Given the description of an element on the screen output the (x, y) to click on. 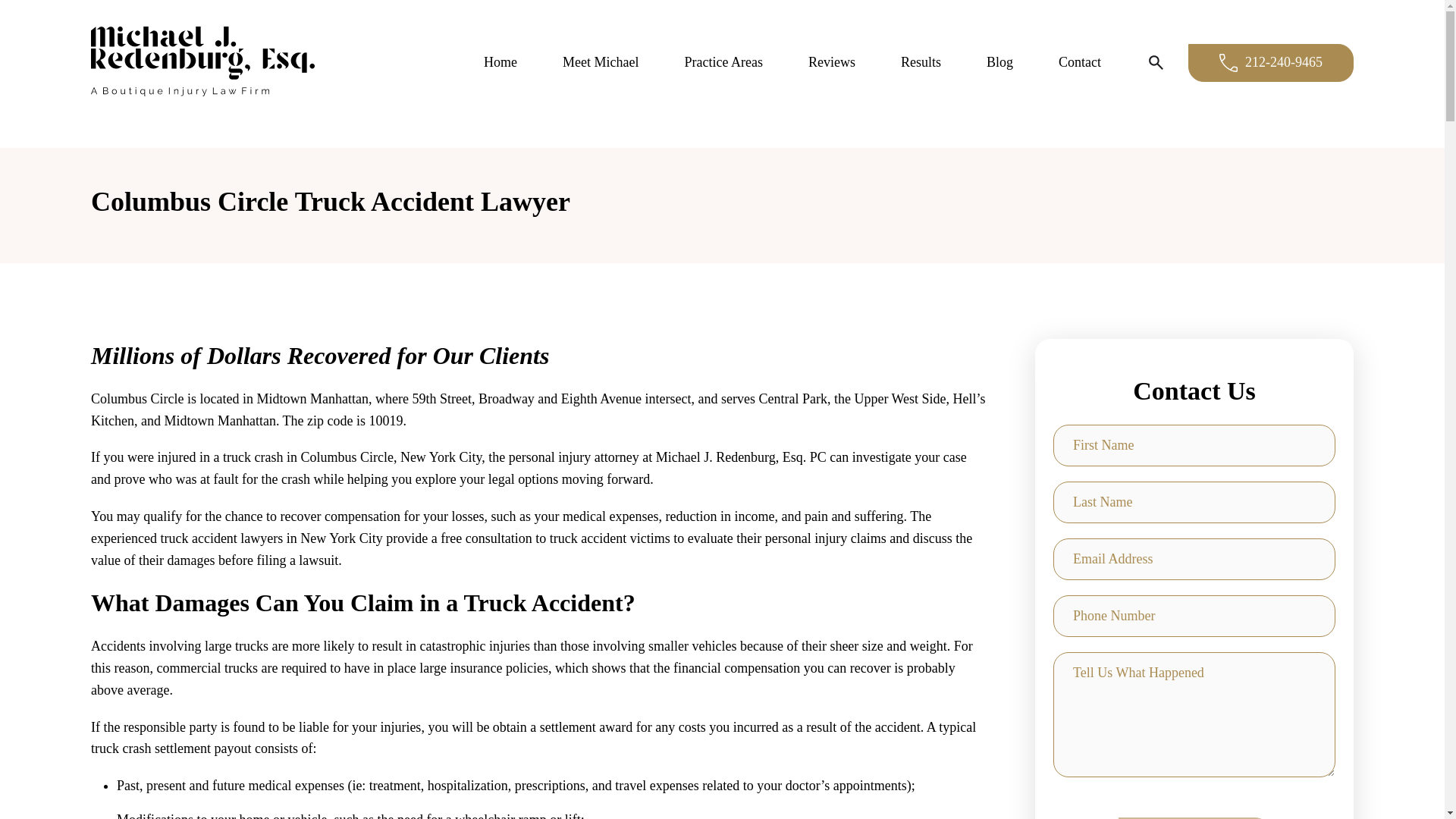
Results (920, 62)
Home (499, 62)
Contact (1079, 62)
Practice Areas (723, 62)
212-240-9465 (1271, 62)
Meet Michael (600, 62)
Blog (1000, 62)
Reviews (832, 62)
